Given the description of an element on the screen output the (x, y) to click on. 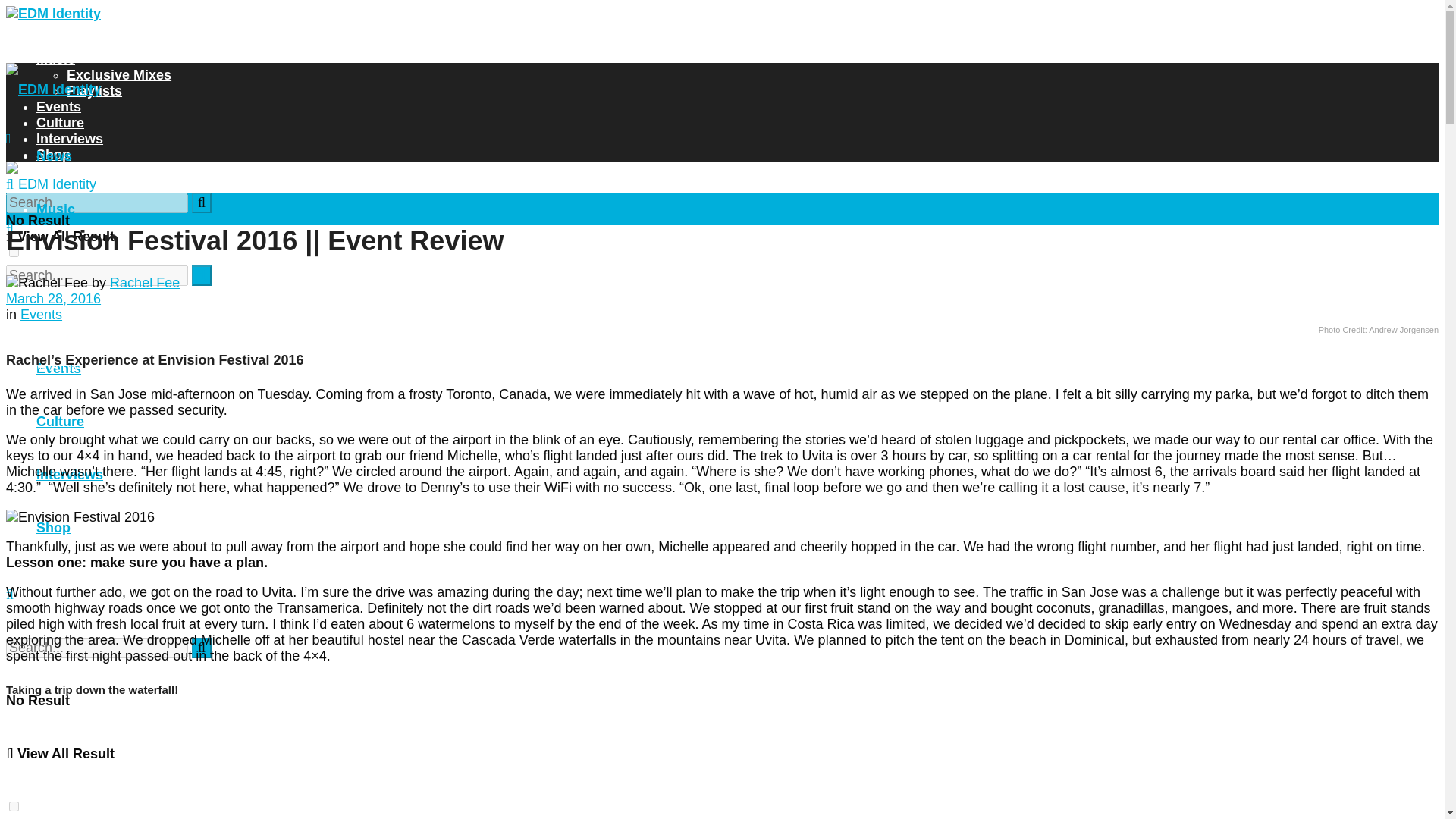
Playlists (94, 314)
News (53, 43)
on (13, 252)
Interviews (69, 138)
Exclusive Mixes (118, 74)
Playlists (94, 90)
Events (41, 314)
Shop (52, 527)
Interviews (69, 474)
Exclusive Mixes (118, 262)
